Given the description of an element on the screen output the (x, y) to click on. 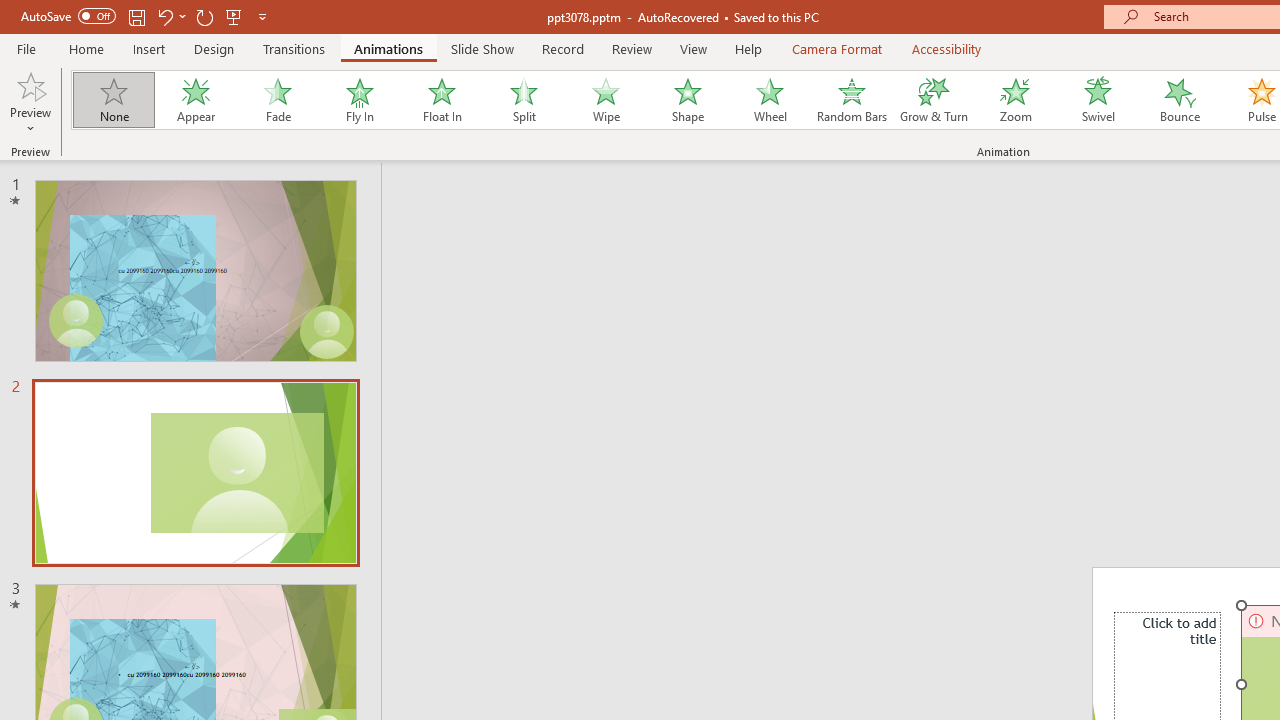
Fade (277, 100)
Appear (195, 100)
Wheel (770, 100)
Swivel (1098, 100)
Bounce (1180, 100)
